Given the description of an element on the screen output the (x, y) to click on. 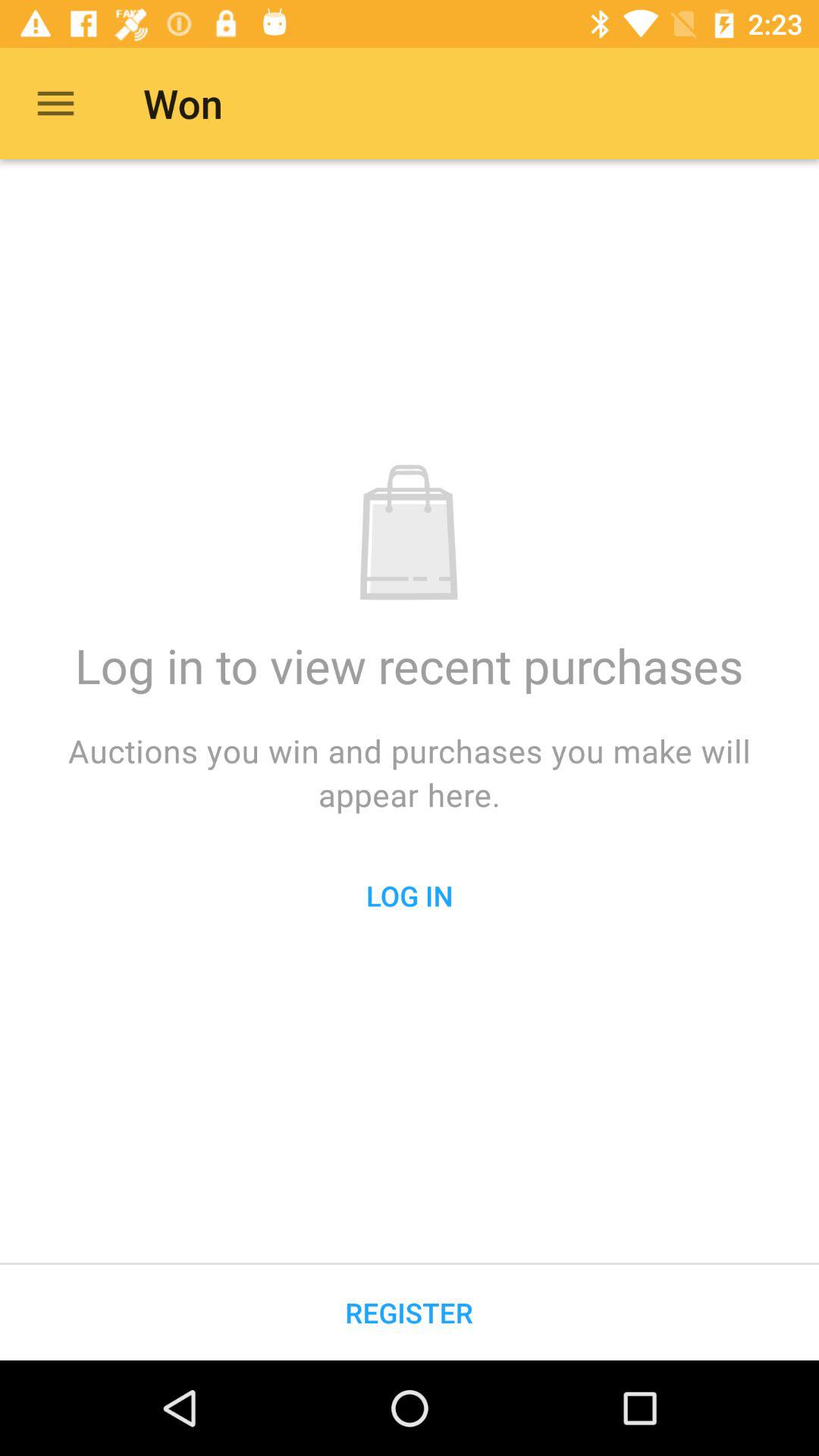
launch register icon (408, 1312)
